Given the description of an element on the screen output the (x, y) to click on. 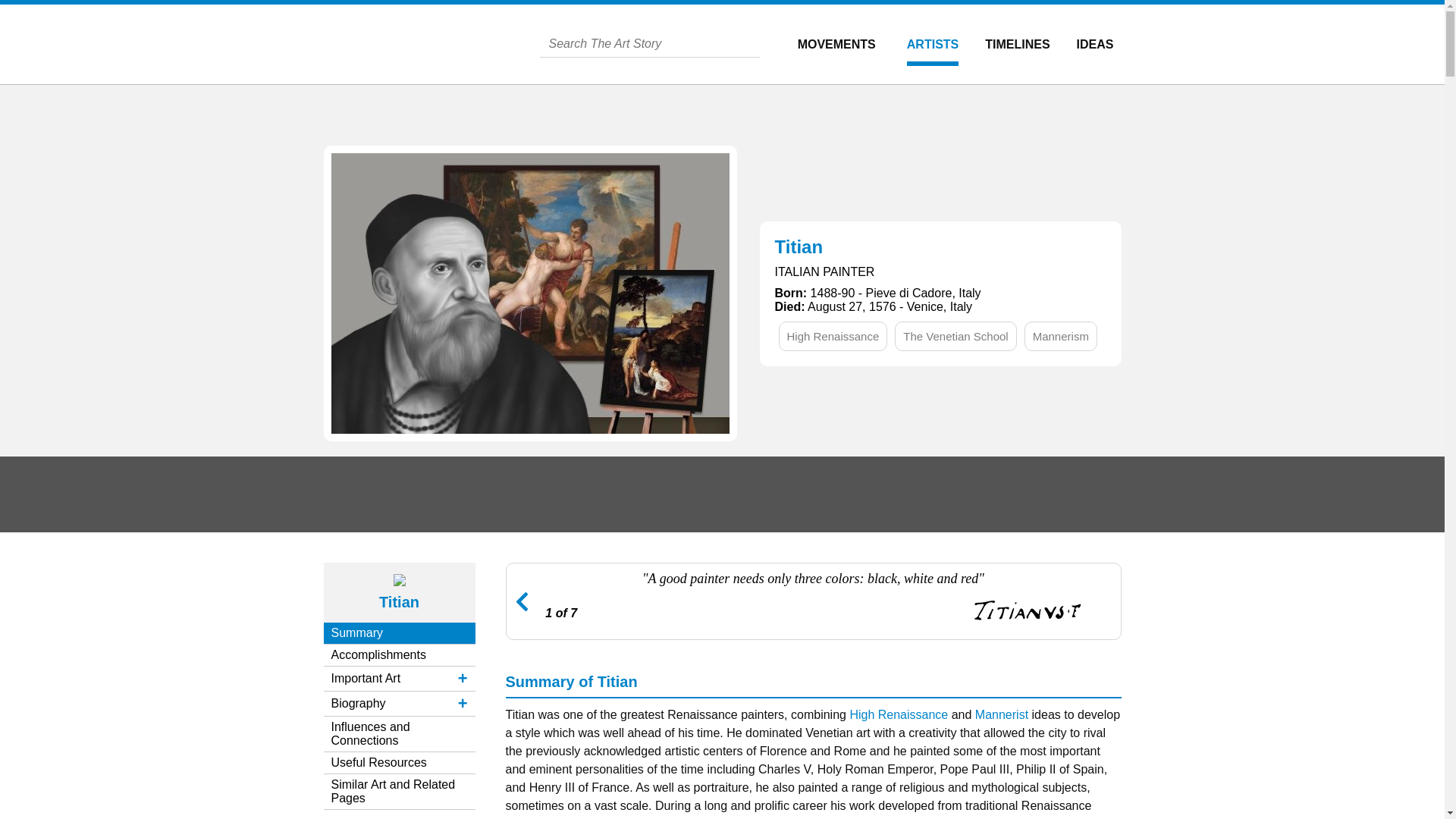
Mannerist (1001, 714)
Mannerism (1060, 335)
The Art Story (425, 43)
MOVEMENTS (836, 43)
High Renaissance (897, 714)
IDEAS (1095, 43)
TIMELINES (1017, 43)
High Renaissance (832, 335)
The Venetian School (955, 335)
ARTISTS (932, 43)
